Given the description of an element on the screen output the (x, y) to click on. 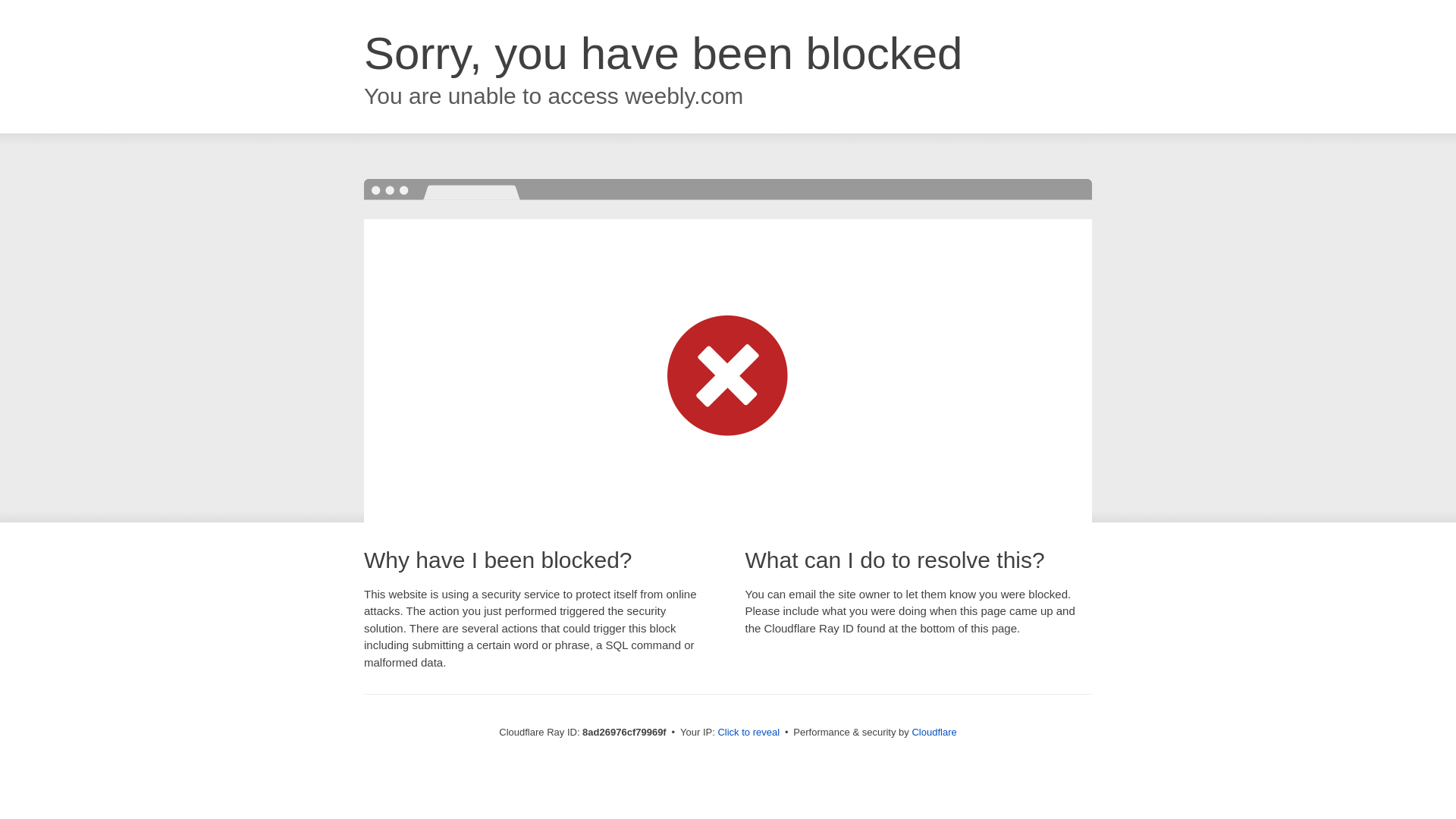
Cloudflare (933, 731)
Click to reveal (747, 732)
